Given the description of an element on the screen output the (x, y) to click on. 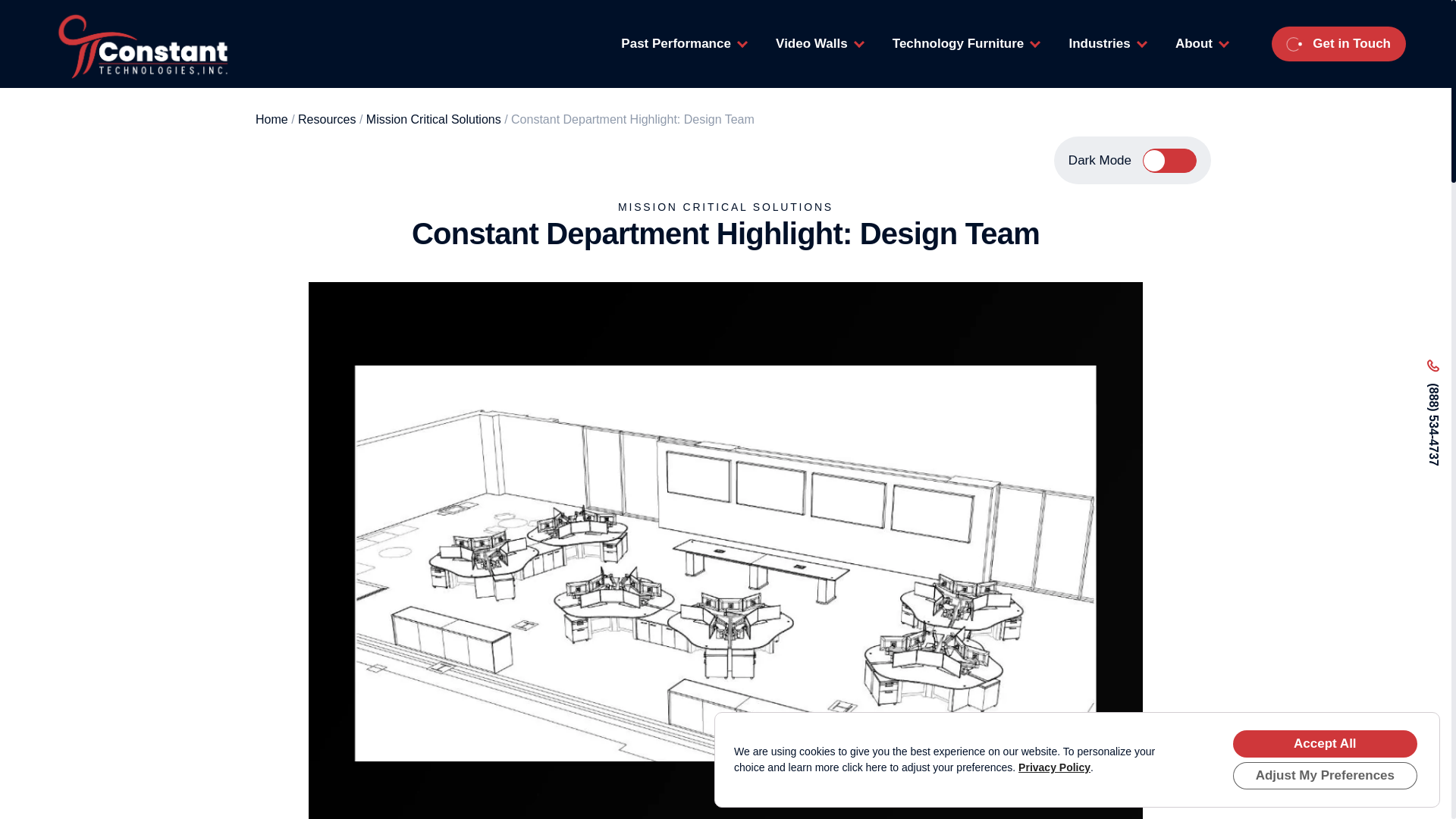
Go to Constant Technologies. (272, 119)
Go to the Mission Critical Solutions Category archives. (433, 119)
Get in Touch (1338, 43)
Go to Resources. (326, 119)
